Given the description of an element on the screen output the (x, y) to click on. 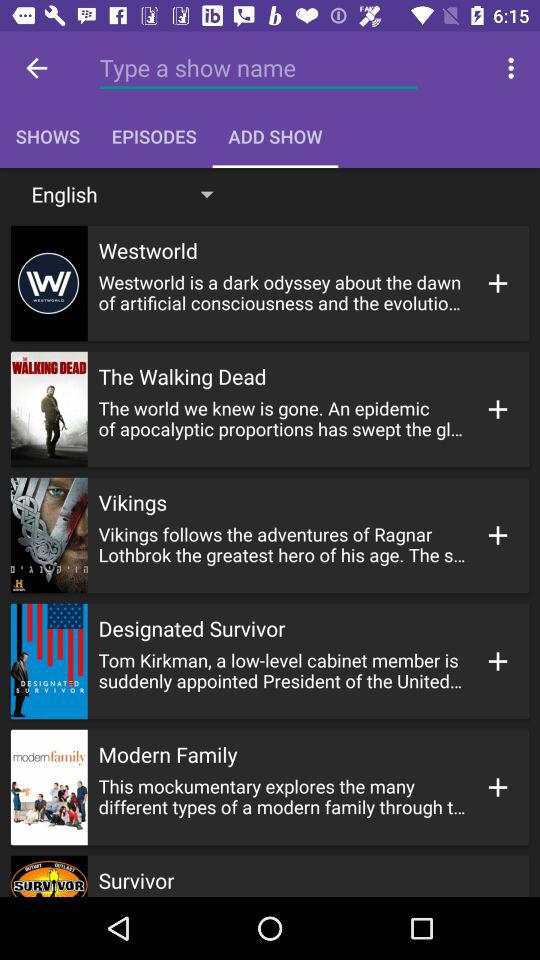
enter a show name (258, 67)
